Given the description of an element on the screen output the (x, y) to click on. 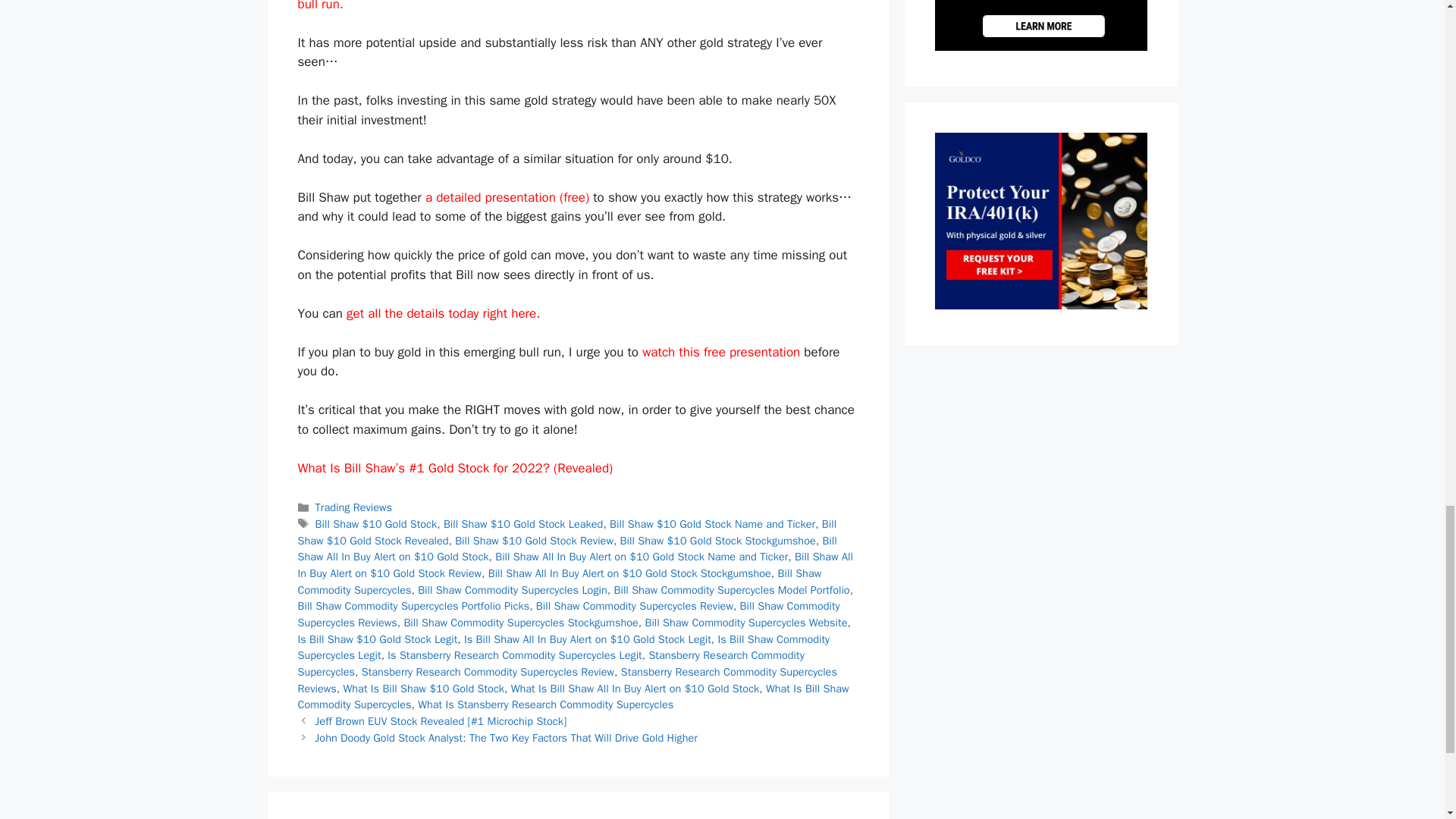
get all the details today right here. (443, 313)
Next (506, 737)
Trading Reviews (354, 507)
Bill Shaw Commodity Supercycles (559, 581)
Bill Shaw Commodity Supercycles Model Portfolio (732, 590)
FREE 2024 GOLD IRA KIT (1040, 304)
Porter Stansberry Energy Grid (1040, 46)
Previous (441, 721)
Bill Shaw Commodity Supercycles Login (512, 590)
watch this free presentation (720, 351)
No. 1 pick for this current gold bull run. (566, 6)
